Given the description of an element on the screen output the (x, y) to click on. 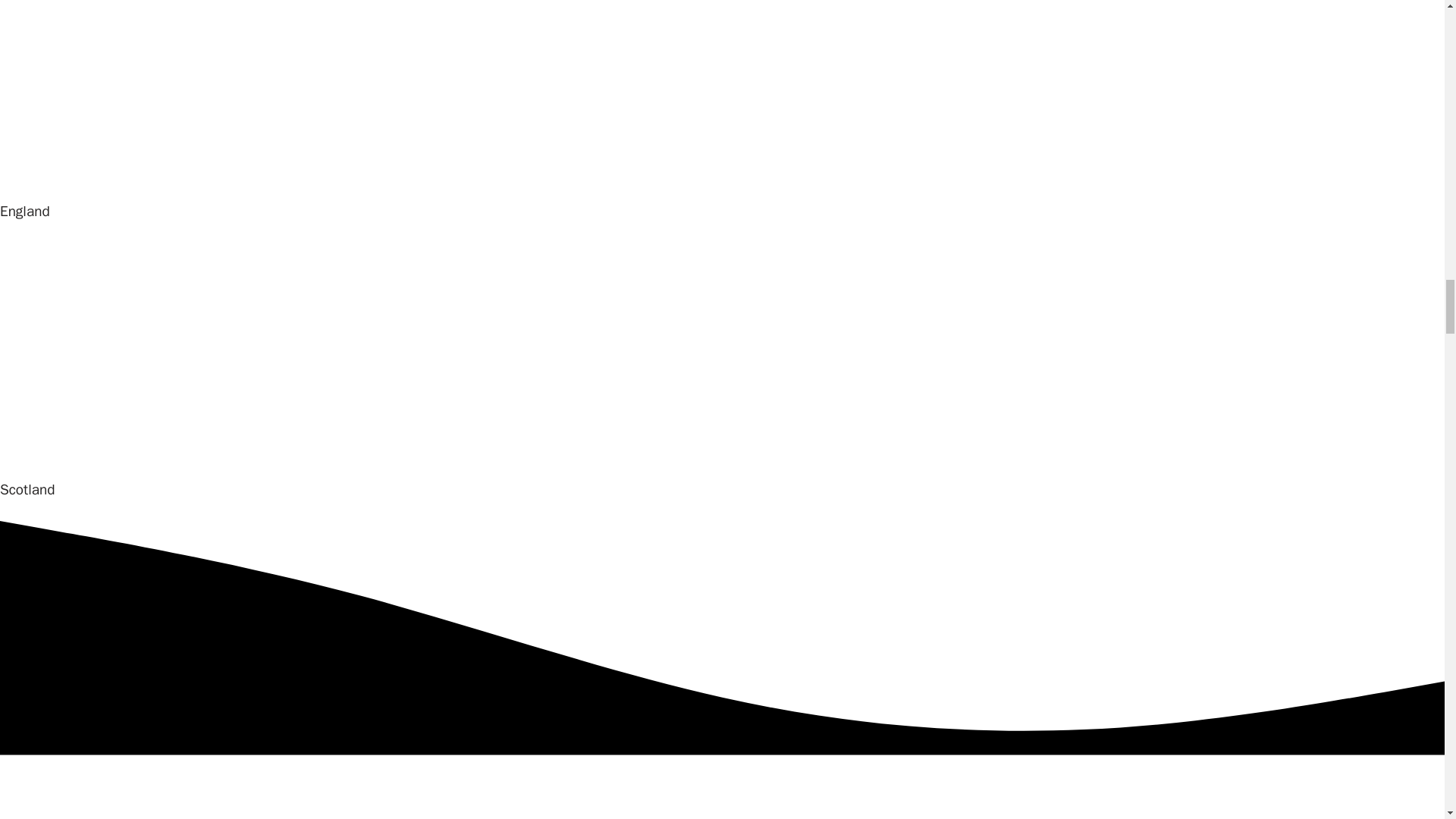
lisa and eric wychopen penguin and pia travel blog-1-2 (398, 790)
penguin and pia edinburgh new (170, 356)
